Given the description of an element on the screen output the (x, y) to click on. 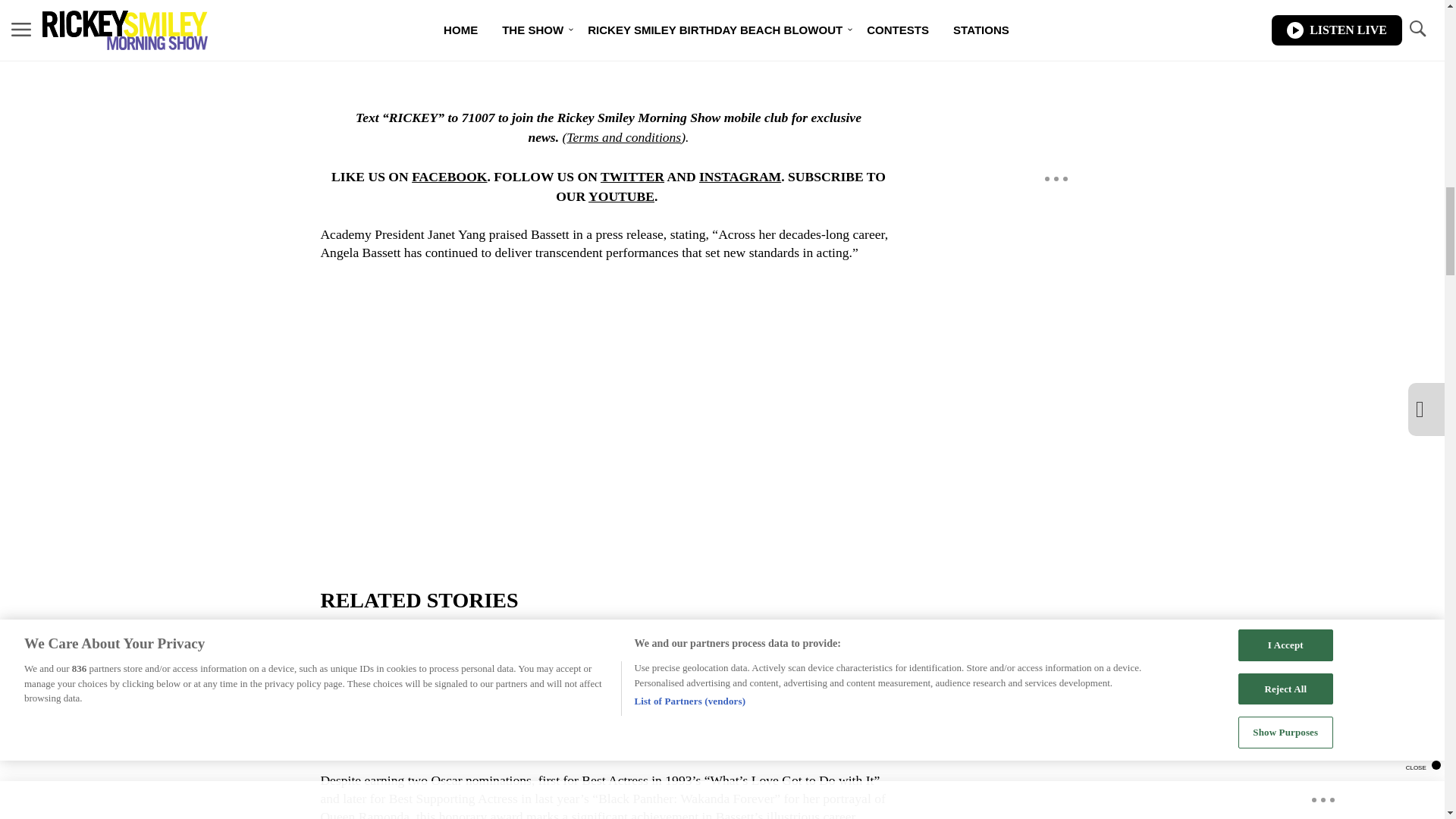
TWITTER (631, 176)
INSTAGRAM (739, 176)
YOUTUBE (620, 196)
FACEBOOK (449, 176)
Terms and conditions (623, 136)
Embedded video (607, 397)
